Given the description of an element on the screen output the (x, y) to click on. 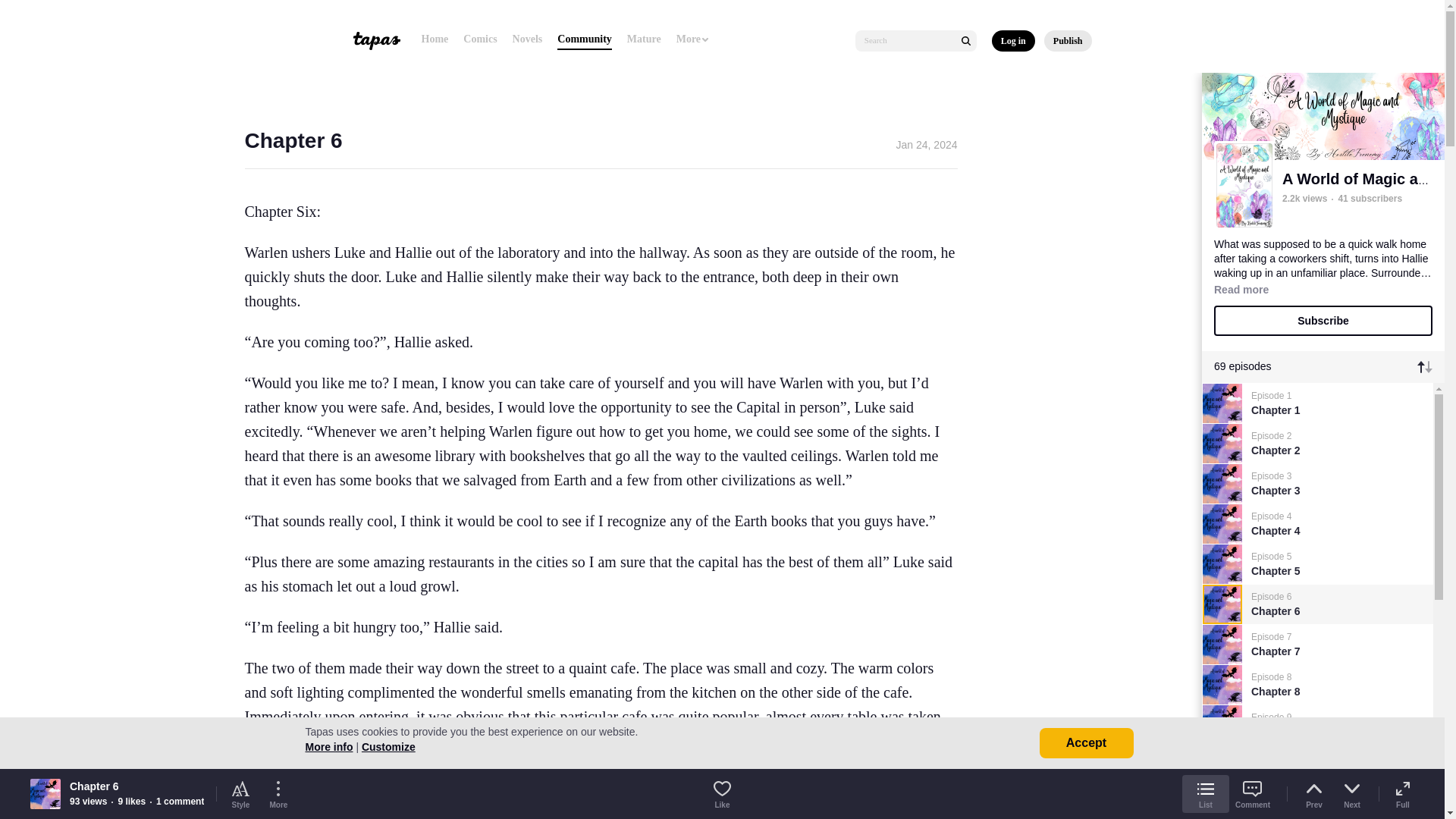
Log in (1013, 40)
Comics (479, 38)
Home (435, 38)
Mature (644, 38)
Publish (1067, 40)
Community (584, 38)
Novels (527, 38)
More (693, 38)
